Given the description of an element on the screen output the (x, y) to click on. 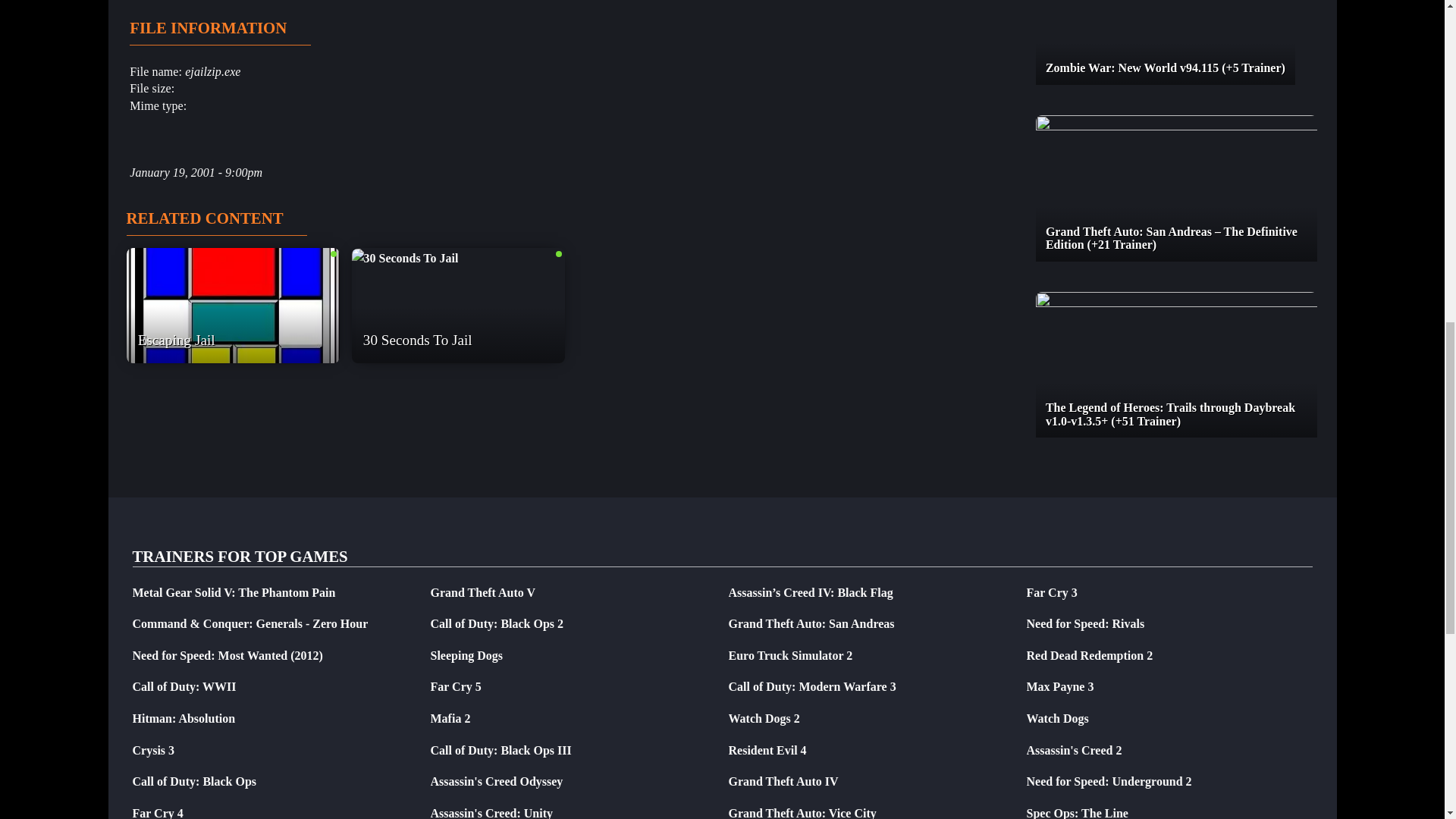
30 Seconds To Jail (405, 258)
Escaping Jail (232, 305)
30 Seconds To Jail (458, 258)
